Given the description of an element on the screen output the (x, y) to click on. 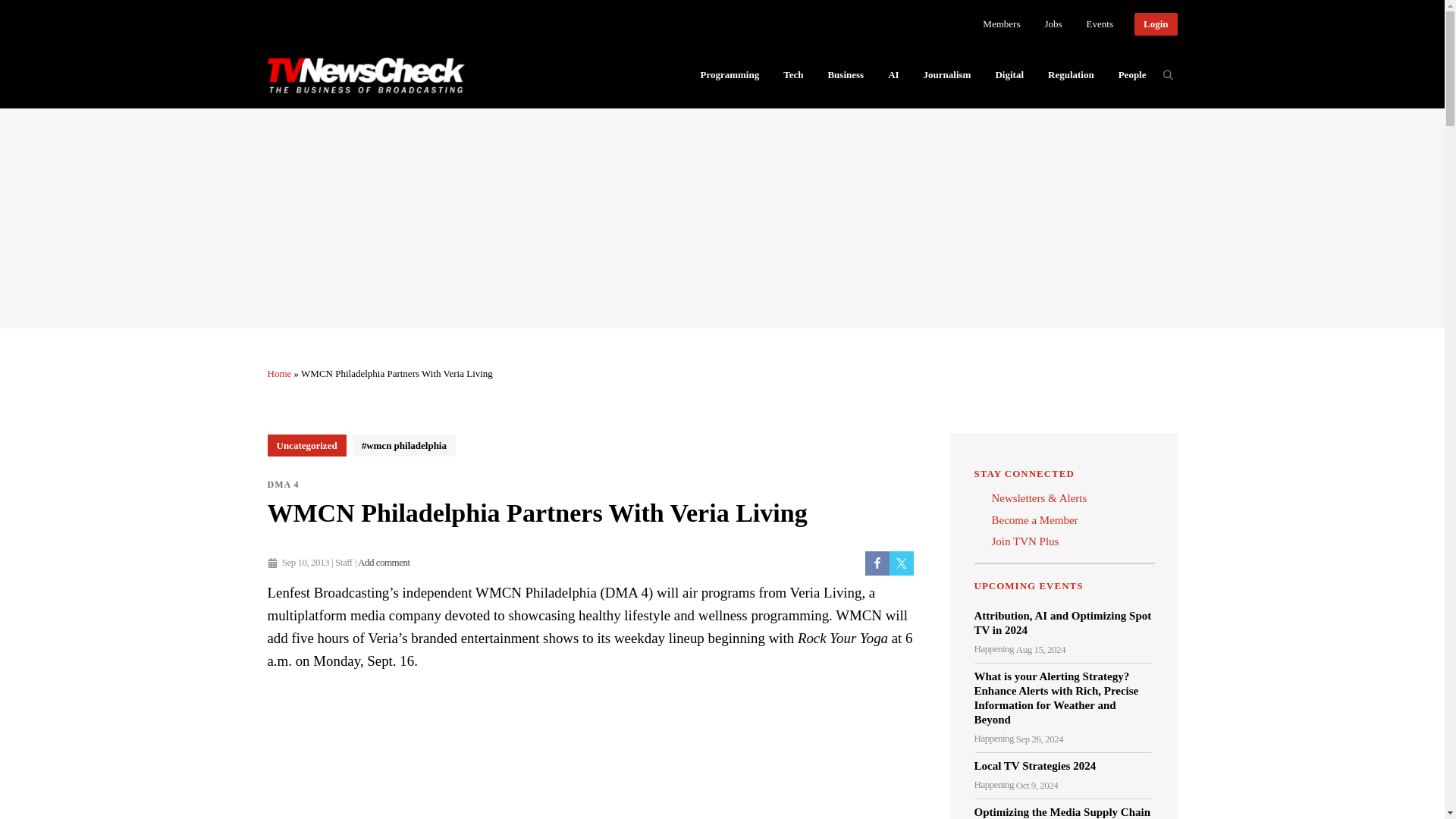
Events (1099, 23)
Login (1155, 24)
Programming (729, 74)
Share on Twitter (900, 563)
People (1132, 74)
Tech (793, 74)
Regulation (1070, 74)
Share on Facebook (876, 563)
wmcn philadelphia (403, 445)
SEARCH (1167, 74)
Uncategorized (306, 445)
Digital (1008, 74)
Jobs (1053, 23)
Journalism (947, 74)
